Given the description of an element on the screen output the (x, y) to click on. 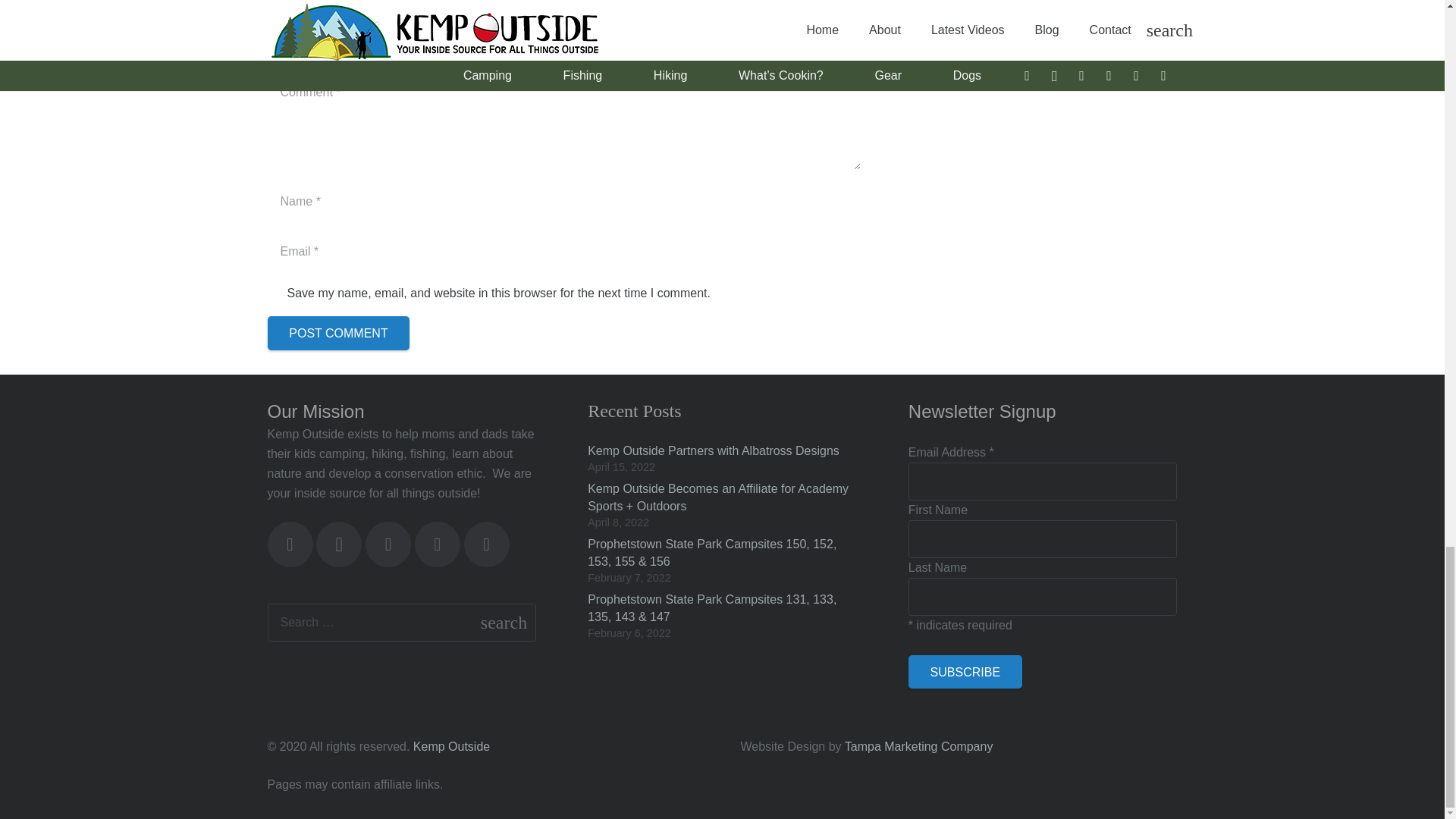
1 (274, 294)
Instagram (338, 544)
Facebook (289, 544)
Twitter (387, 544)
Subscribe (965, 672)
